Given the description of an element on the screen output the (x, y) to click on. 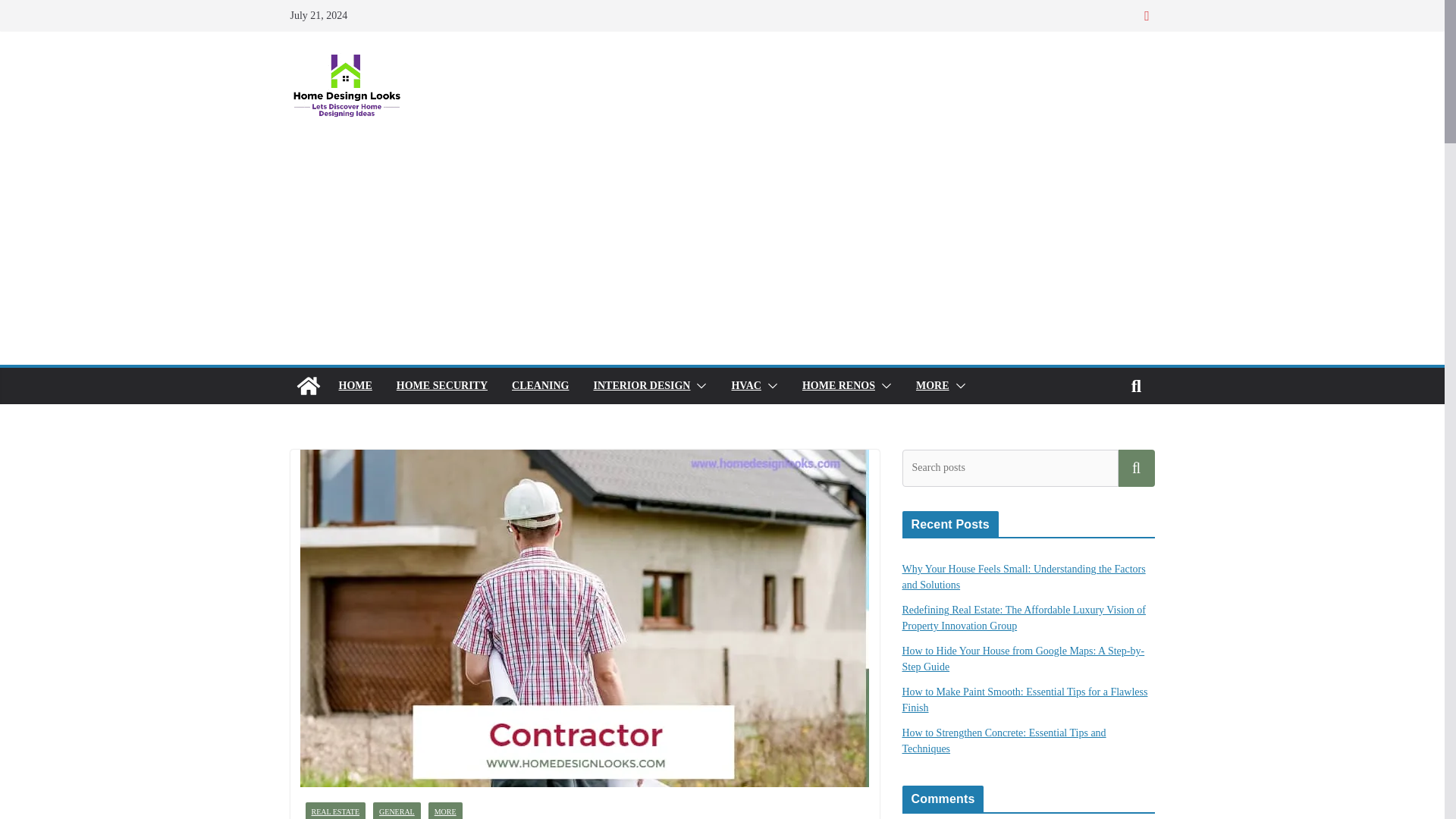
INTERIOR DESIGN (641, 385)
REAL ESTATE (334, 810)
HVAC (745, 385)
Best blog for solution for home problems (307, 385)
HOME (354, 385)
GENERAL (396, 810)
HOME RENOS (838, 385)
HOME SECURITY (441, 385)
MORE (932, 385)
CLEANING (540, 385)
MORE (445, 810)
